Given the description of an element on the screen output the (x, y) to click on. 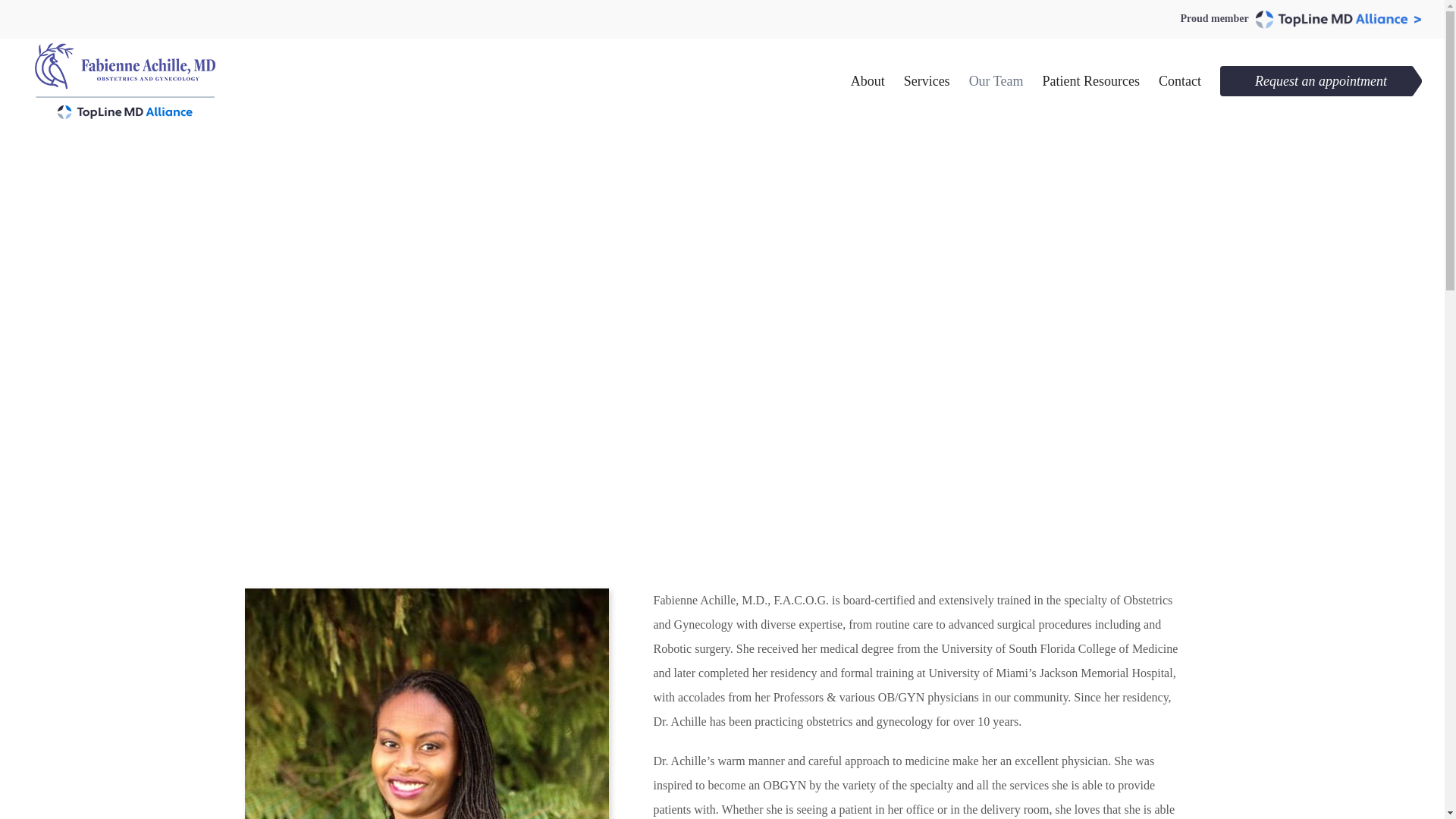
Dr-Achille (426, 703)
Patient Resources (1091, 80)
Request an appointment (1321, 80)
